Given the description of an element on the screen output the (x, y) to click on. 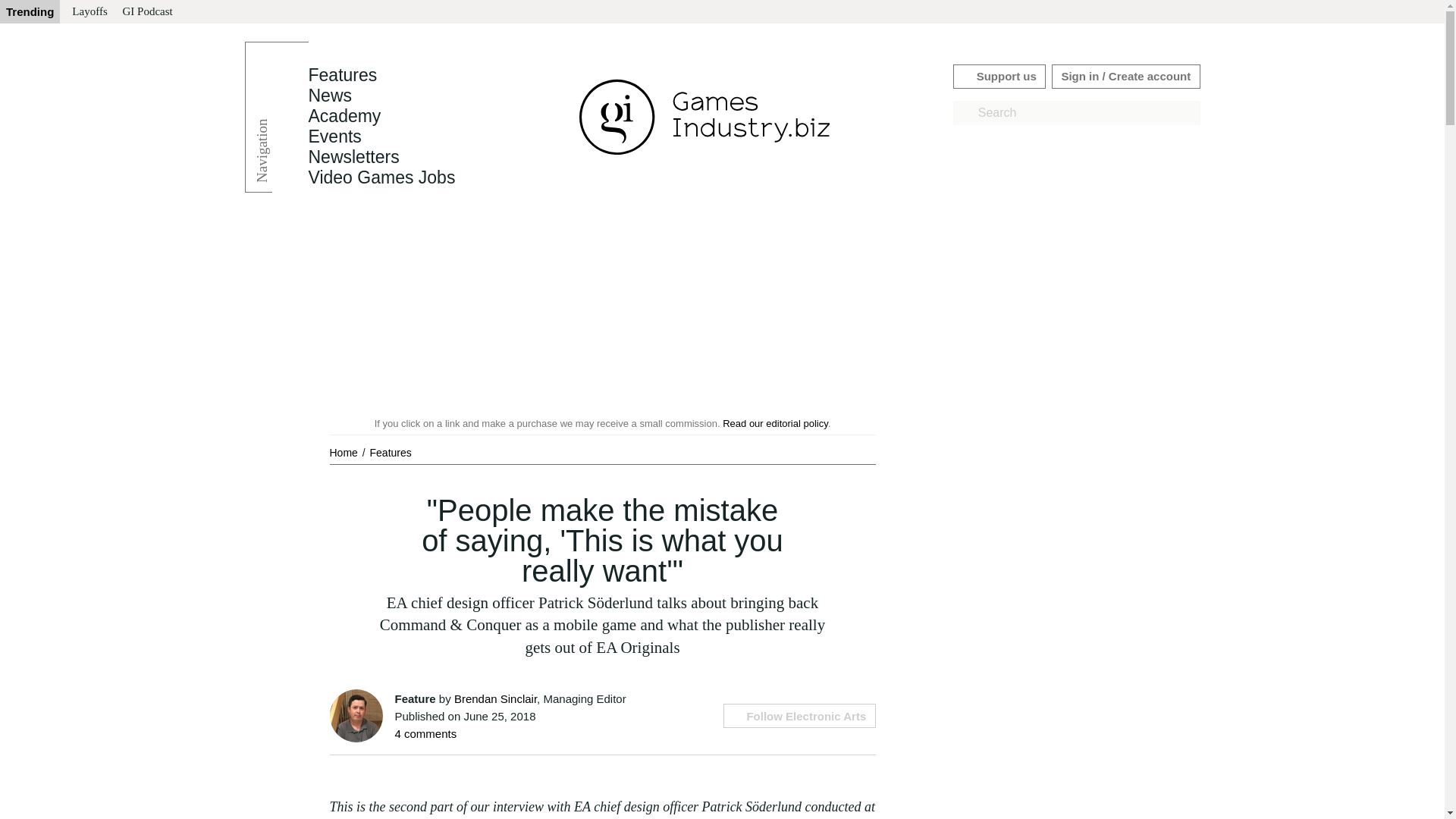
Read our editorial policy (775, 423)
Layoffs (89, 11)
Academy (343, 116)
Layoffs (89, 11)
Events (334, 136)
Home (344, 452)
4 comments (425, 733)
Follow Electronic Arts (799, 715)
Features (390, 452)
Video Games Jobs (380, 177)
